Given the description of an element on the screen output the (x, y) to click on. 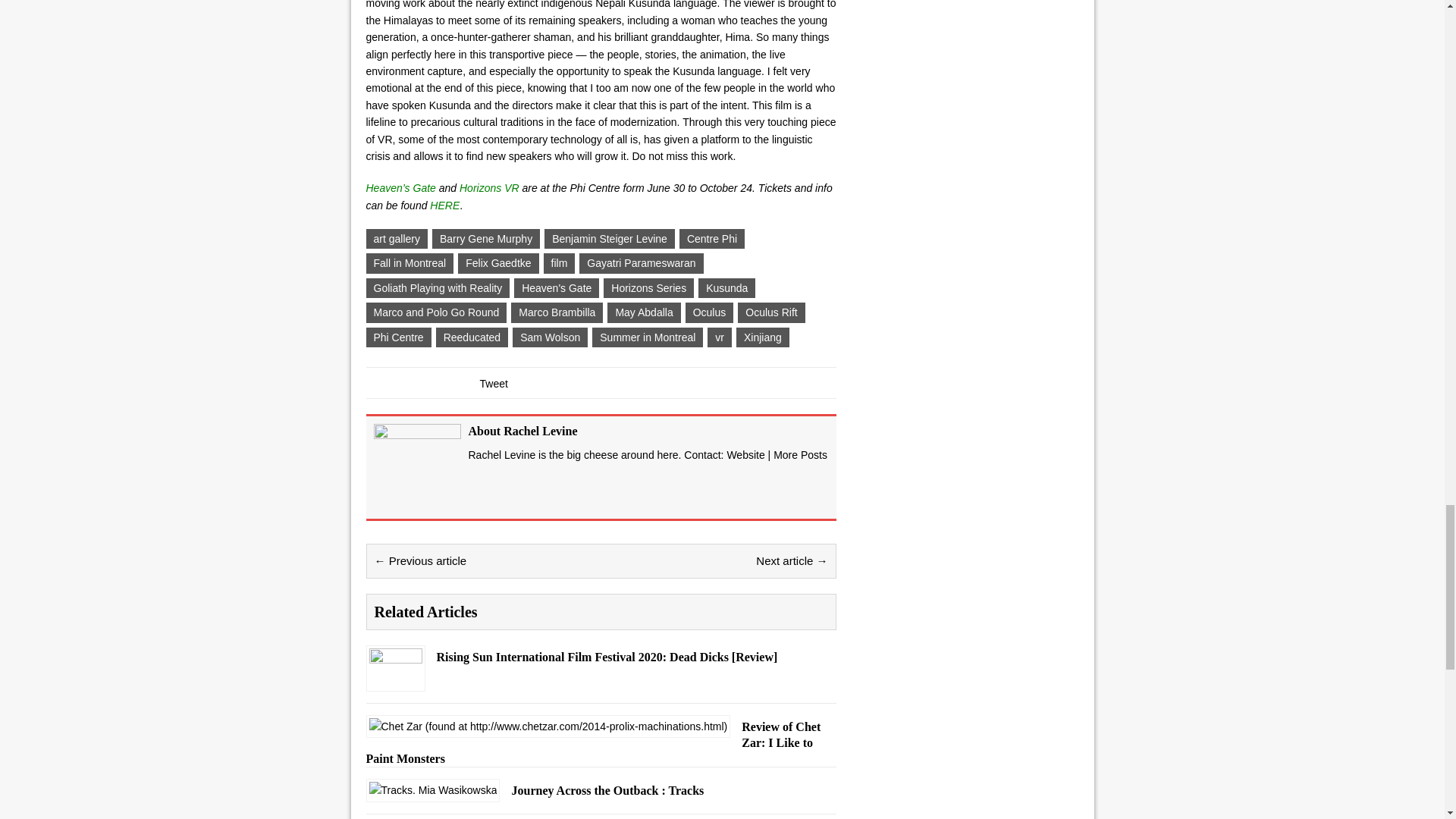
art gallery (395, 238)
Centre Phi (711, 238)
HERE (444, 205)
Heaven's Gate (555, 288)
Journey Across the Outback : Tracks (432, 789)
Gayatri Parameswaran (641, 262)
film (559, 262)
May Abdalla (643, 312)
Benjamin Steiger Levine (609, 238)
Goliath Playing with Reality (437, 288)
Kusunda (726, 288)
Felix Gaedtke (498, 262)
Barry Gene Murphy (486, 238)
Marco Brambilla (556, 312)
Horizons Series (649, 288)
